Given the description of an element on the screen output the (x, y) to click on. 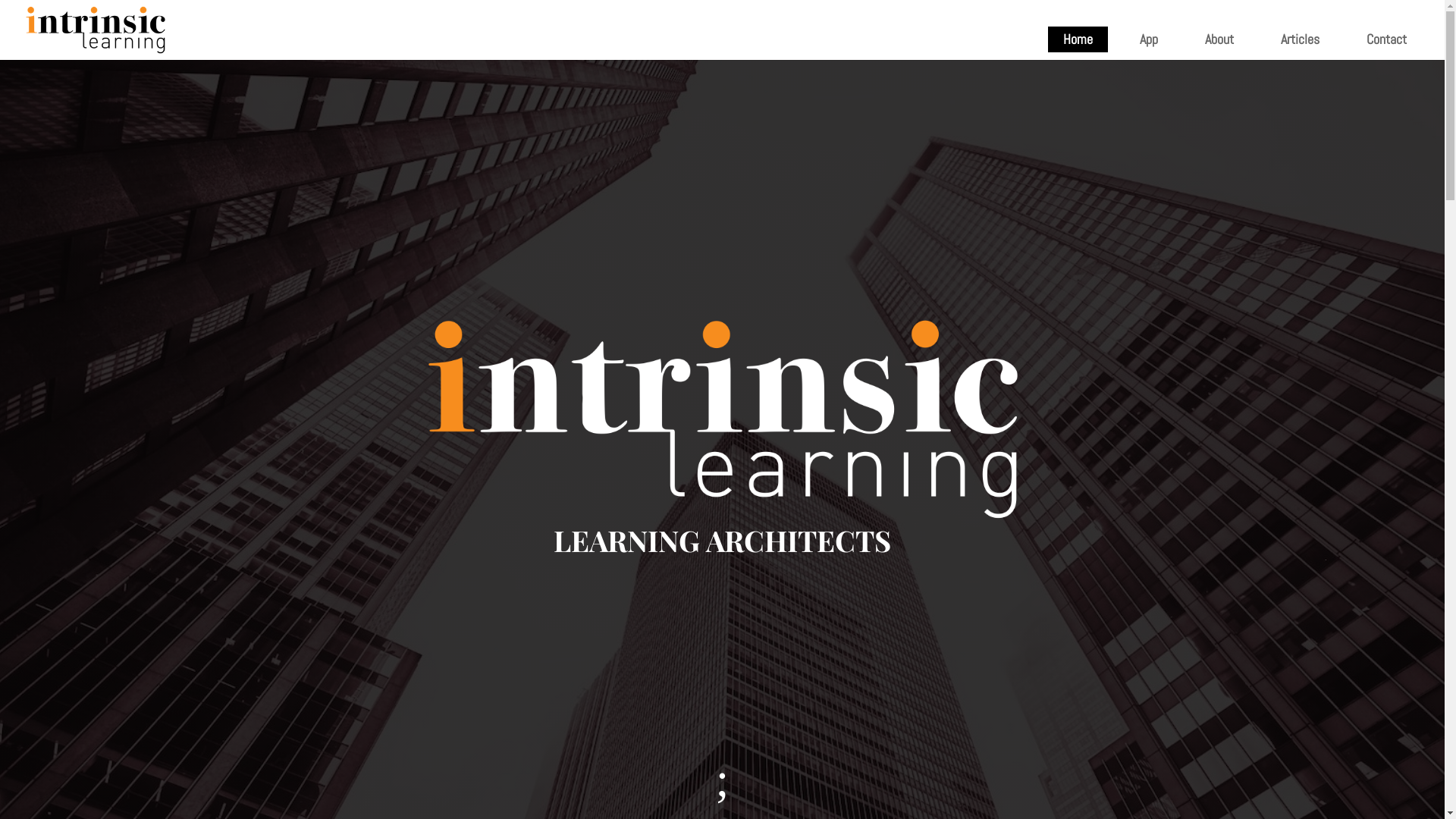
; Element type: text (722, 779)
App Element type: text (1148, 39)
Contact Element type: text (1386, 39)
Articles Element type: text (1299, 39)
About Element type: text (1218, 39)
Home Element type: text (1077, 39)
